Given the description of an element on the screen output the (x, y) to click on. 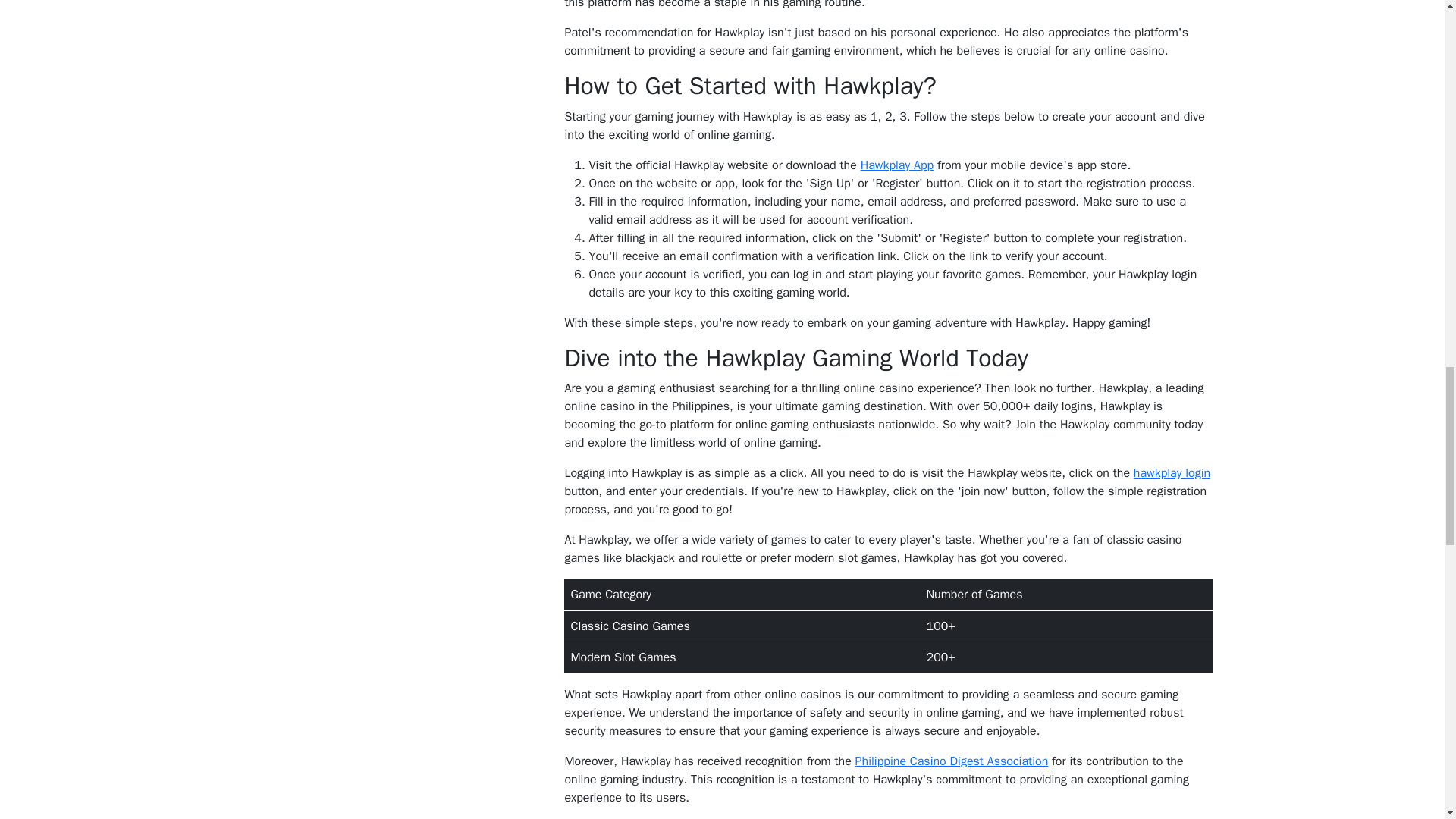
Philippine Casino Digest Association (952, 761)
Hawkplay App (897, 165)
hawkplay login (1171, 473)
